Given the description of an element on the screen output the (x, y) to click on. 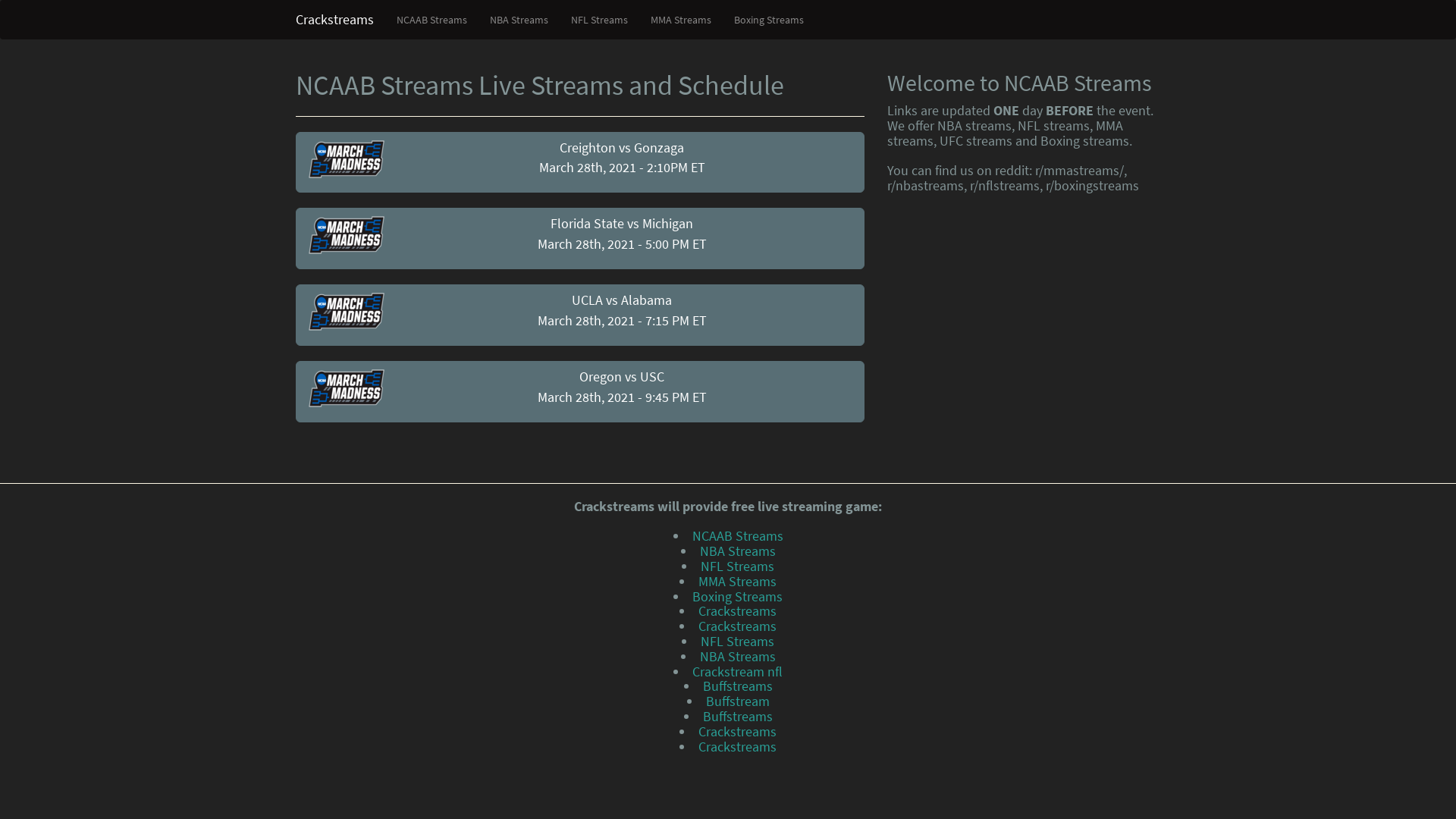
NCAAB Streams Element type: hover (346, 235)
Crackstreams Element type: text (737, 610)
Oregon vs USC
March 28th, 2021 - 9:45 PM ET Element type: text (579, 391)
NCAAB Streams Element type: hover (346, 388)
NCAAB Streams Element type: hover (346, 159)
NFL Streams Element type: text (737, 565)
Buffstreams Element type: text (736, 715)
Florida State vs Michigan
March 28th, 2021 - 5:00 PM ET Element type: text (579, 238)
Crackstreams Element type: text (737, 746)
NBA Streams Element type: text (737, 656)
Crackstreams Element type: text (737, 625)
Buffstream Element type: text (736, 700)
NBA Streams Element type: text (518, 19)
MMA Streams Element type: text (737, 580)
NCAAB Streams Element type: hover (346, 311)
Crackstreams Element type: text (737, 731)
NFL Streams Element type: text (599, 19)
Buffstreams Element type: text (736, 685)
NCAAB Streams Element type: text (431, 19)
Crackstreams Element type: text (334, 19)
UCLA vs Alabama
March 28th, 2021 - 7:15 PM ET Element type: text (579, 314)
Boxing Streams Element type: text (737, 596)
NBA Streams Element type: text (737, 550)
NFL Streams Element type: text (737, 640)
Crackstream nfl Element type: text (737, 671)
Boxing Streams Element type: text (768, 19)
MMA Streams Element type: text (680, 19)
Creighton vs Gonzaga
March 28th, 2021 - 2:10PM ET Element type: text (579, 162)
NCAAB Streams Element type: text (736, 535)
